Given the description of an element on the screen output the (x, y) to click on. 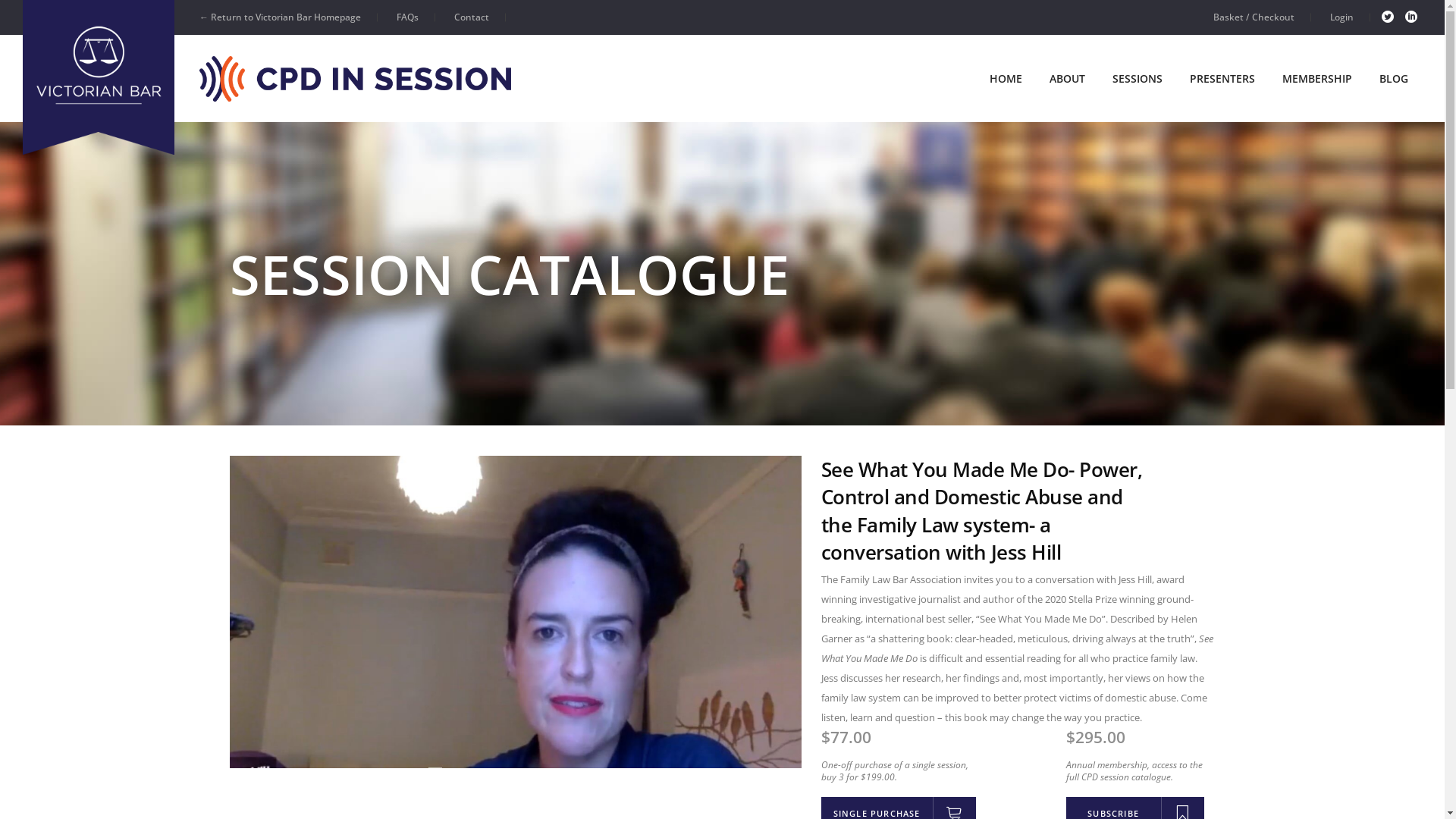
SESSIONS Element type: text (1137, 78)
BLOG Element type: text (1393, 78)
PRESENTERS Element type: text (1222, 78)
ABOUT Element type: text (1066, 78)
Login Element type: text (1341, 17)
HOME Element type: text (1005, 78)
MEMBERSHIP Element type: text (1316, 78)
Basket / Checkout Element type: text (1253, 17)
Screenshot 2021-03-05 105241 Element type: hover (514, 611)
Contact Element type: text (471, 17)
FAQs Element type: text (407, 17)
